Given the description of an element on the screen output the (x, y) to click on. 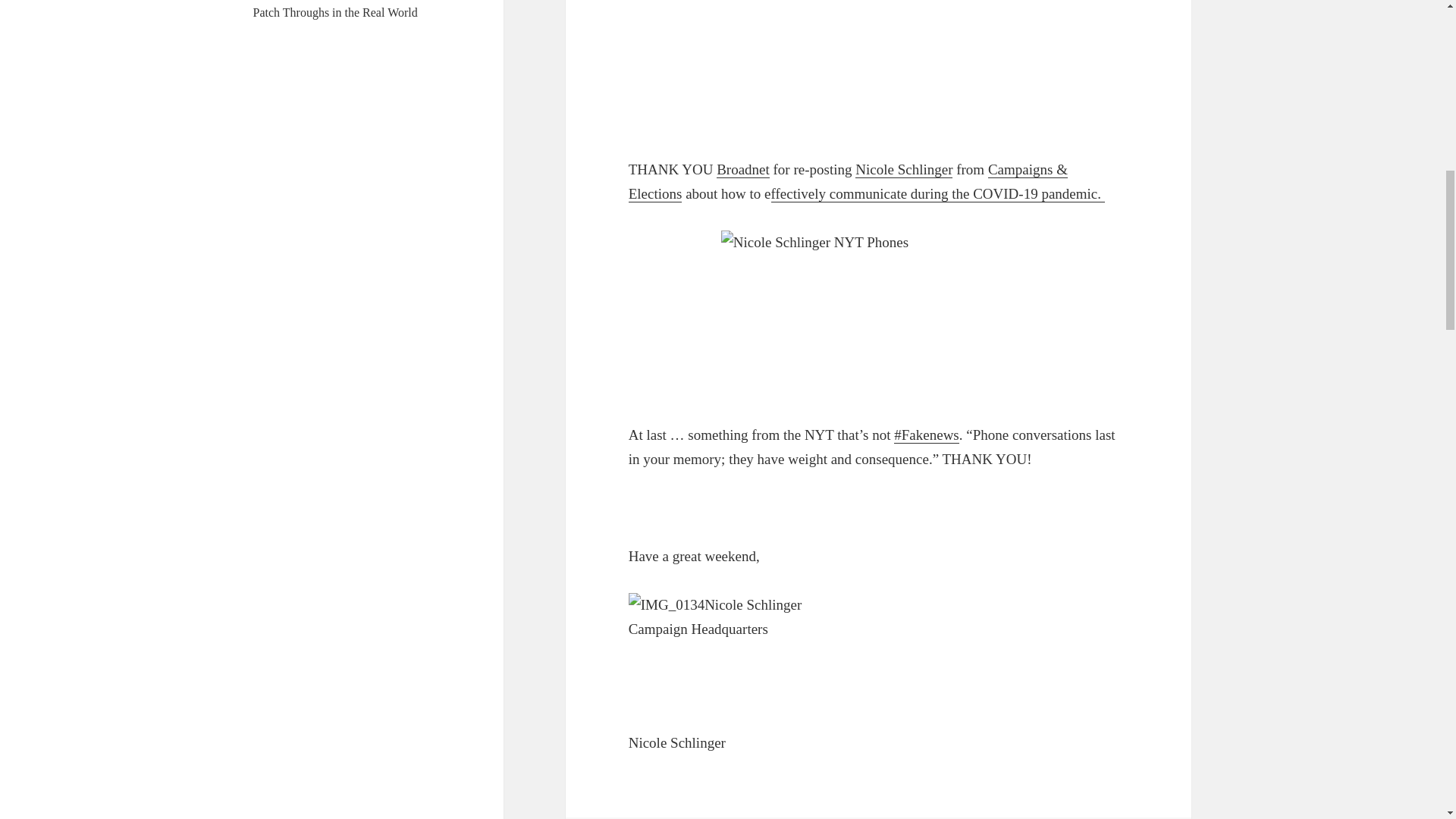
Nicole Schlinger (904, 169)
ffectively communicate during the COVID-19 pandemic.  (938, 193)
Patch Throughs in the Real World (335, 11)
Broadnet (743, 169)
